Given the description of an element on the screen output the (x, y) to click on. 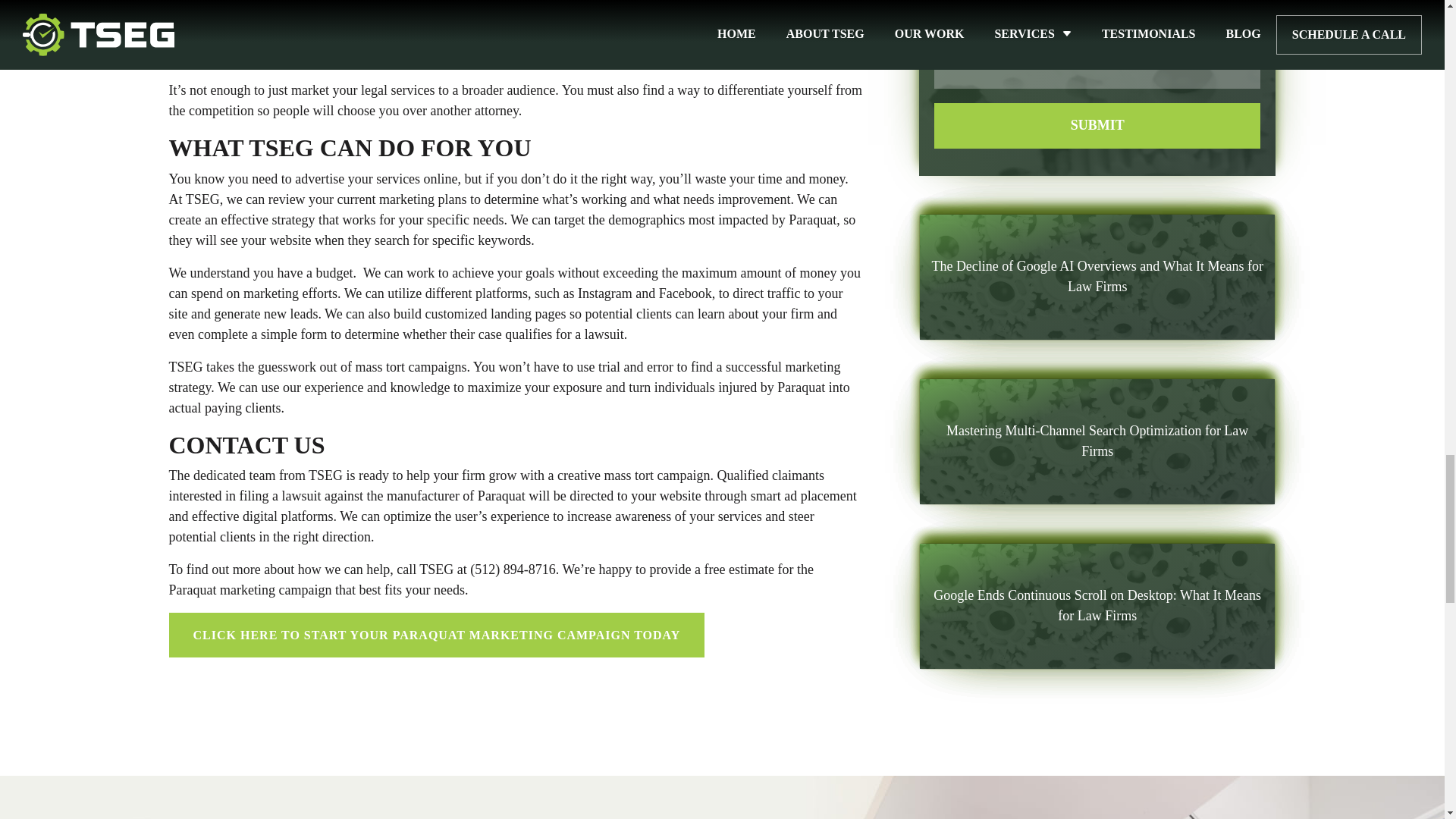
CLICK HERE TO START YOUR PARAQUAT MARKETING CAMPAIGN TODAY (436, 634)
